Given the description of an element on the screen output the (x, y) to click on. 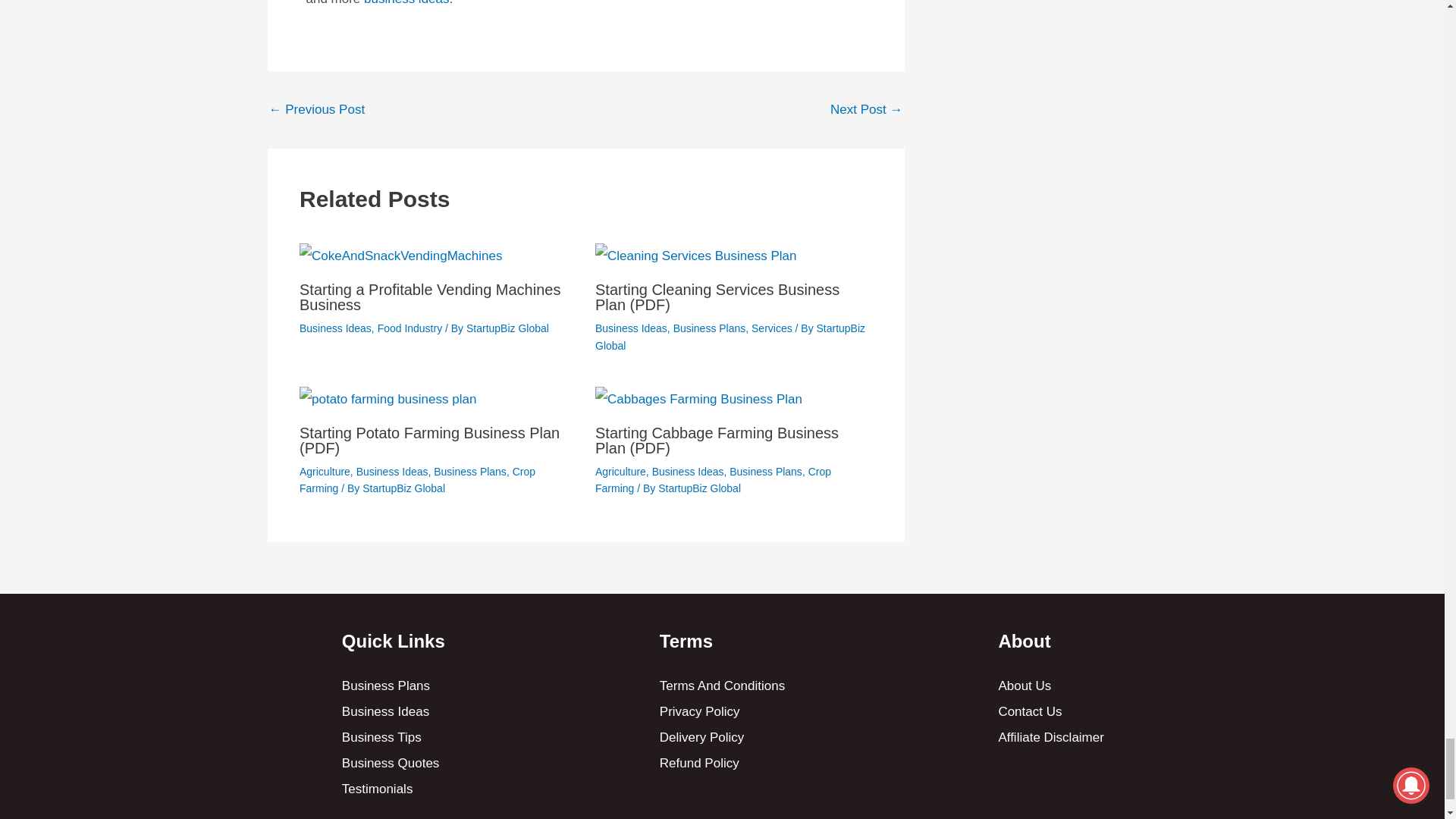
View all posts by StartupBiz Global (729, 336)
View all posts by StartupBiz Global (403, 488)
View all posts by StartupBiz Global (506, 328)
View all posts by StartupBiz Global (699, 488)
